Given the description of an element on the screen output the (x, y) to click on. 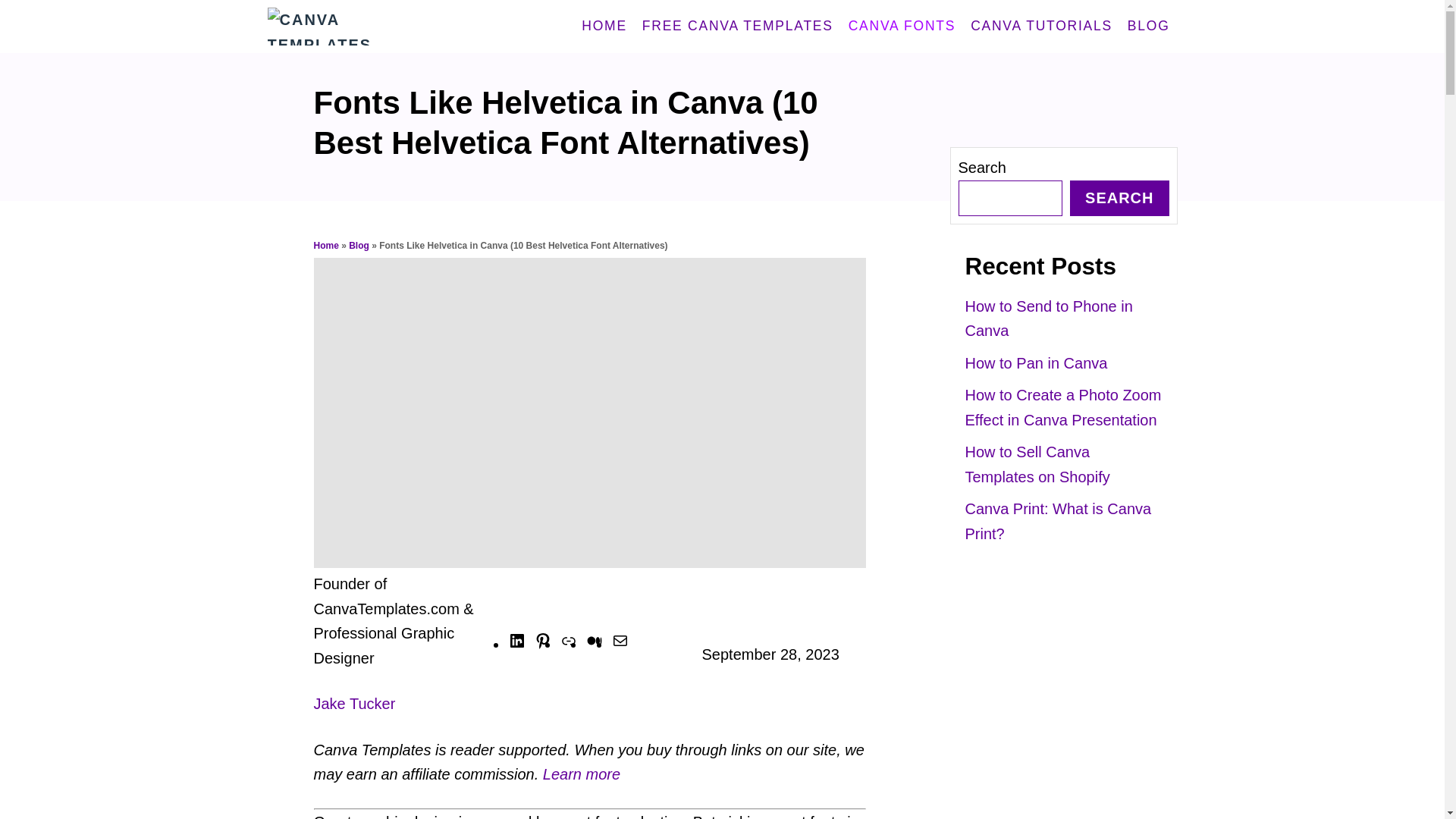
FREE CANVA TEMPLATES (737, 26)
Canva Templates (388, 26)
HOME (603, 26)
CANVA FONTS (901, 26)
